Given the description of an element on the screen output the (x, y) to click on. 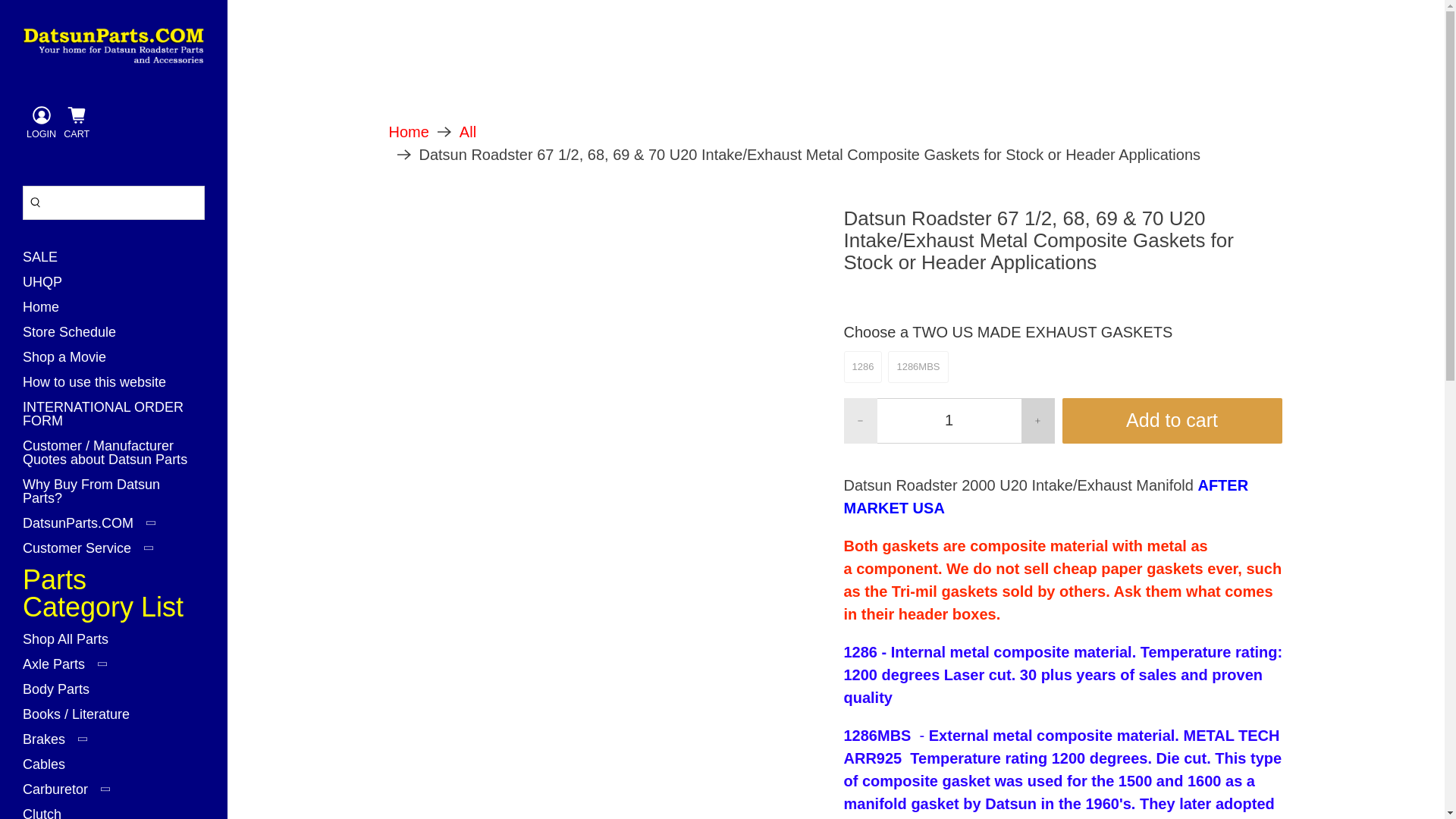
Datsun Parts (408, 131)
SALE (45, 262)
Home (46, 312)
Shop All Parts (71, 644)
Parts Category List (114, 599)
Customer Service (94, 553)
DatsunParts.COM (95, 528)
UHQP (48, 287)
Store Schedule (75, 337)
How to use this website (100, 387)
